Given the description of an element on the screen output the (x, y) to click on. 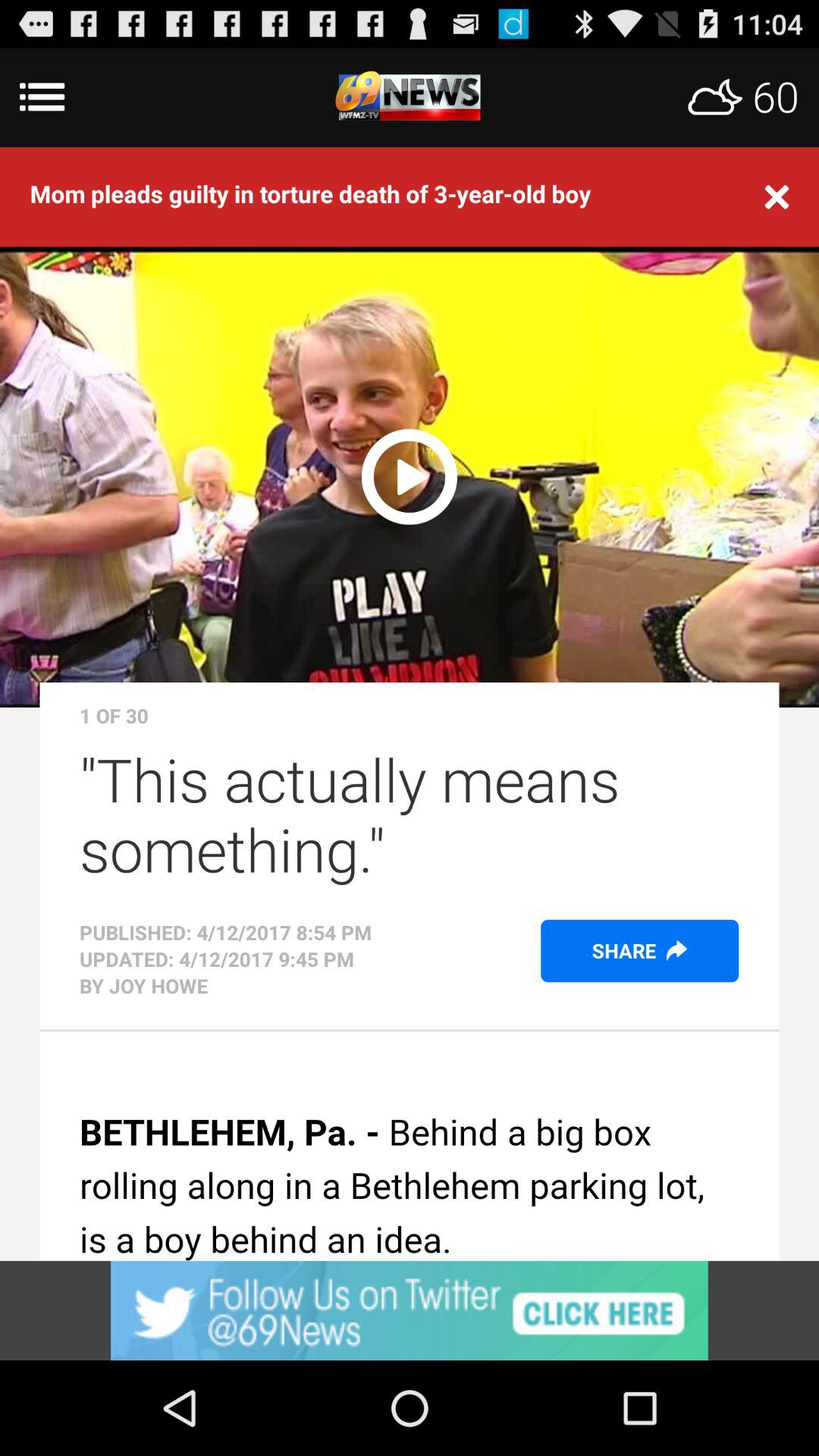
video (409, 474)
